Given the description of an element on the screen output the (x, y) to click on. 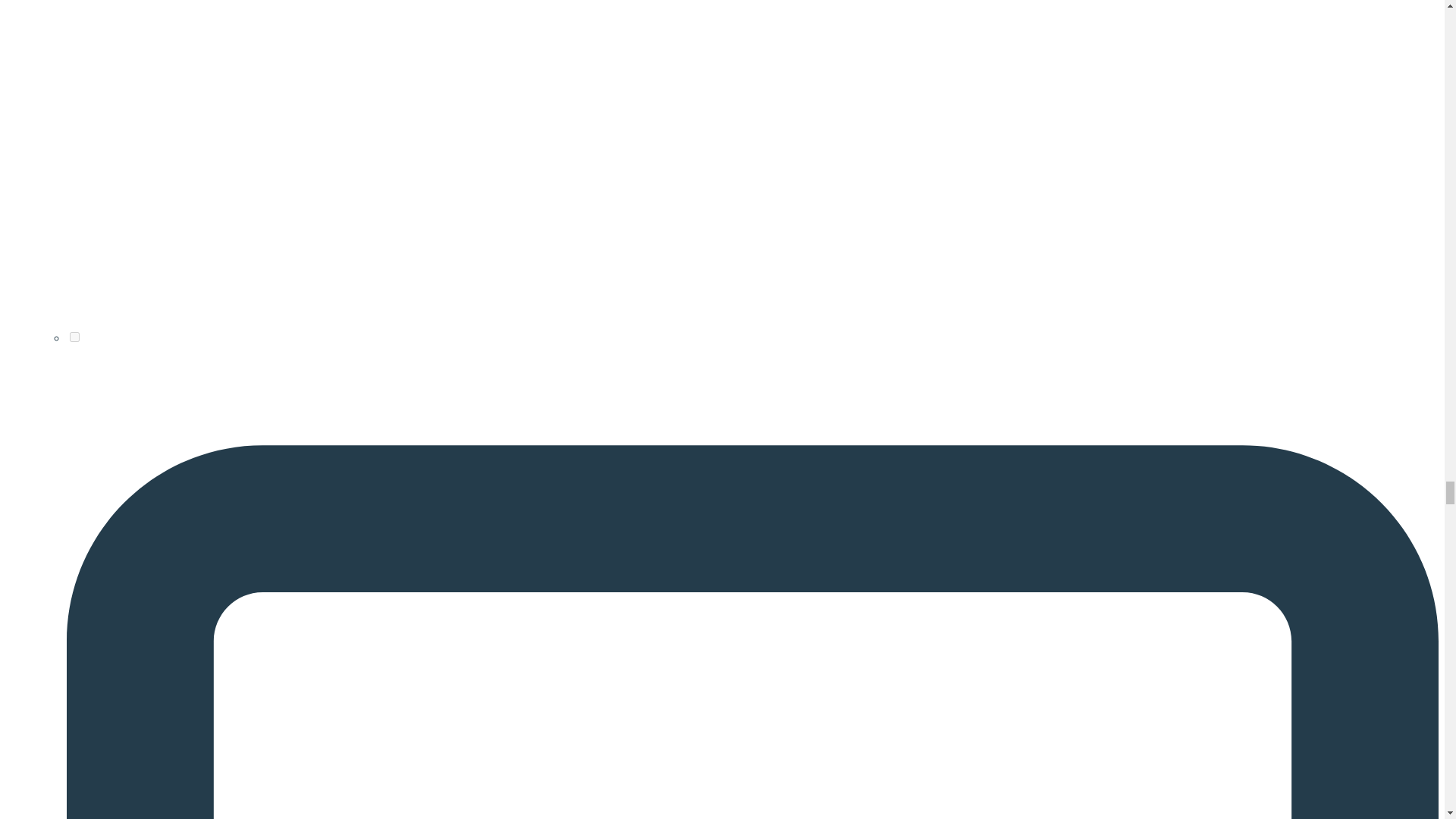
on (74, 337)
